Given the description of an element on the screen output the (x, y) to click on. 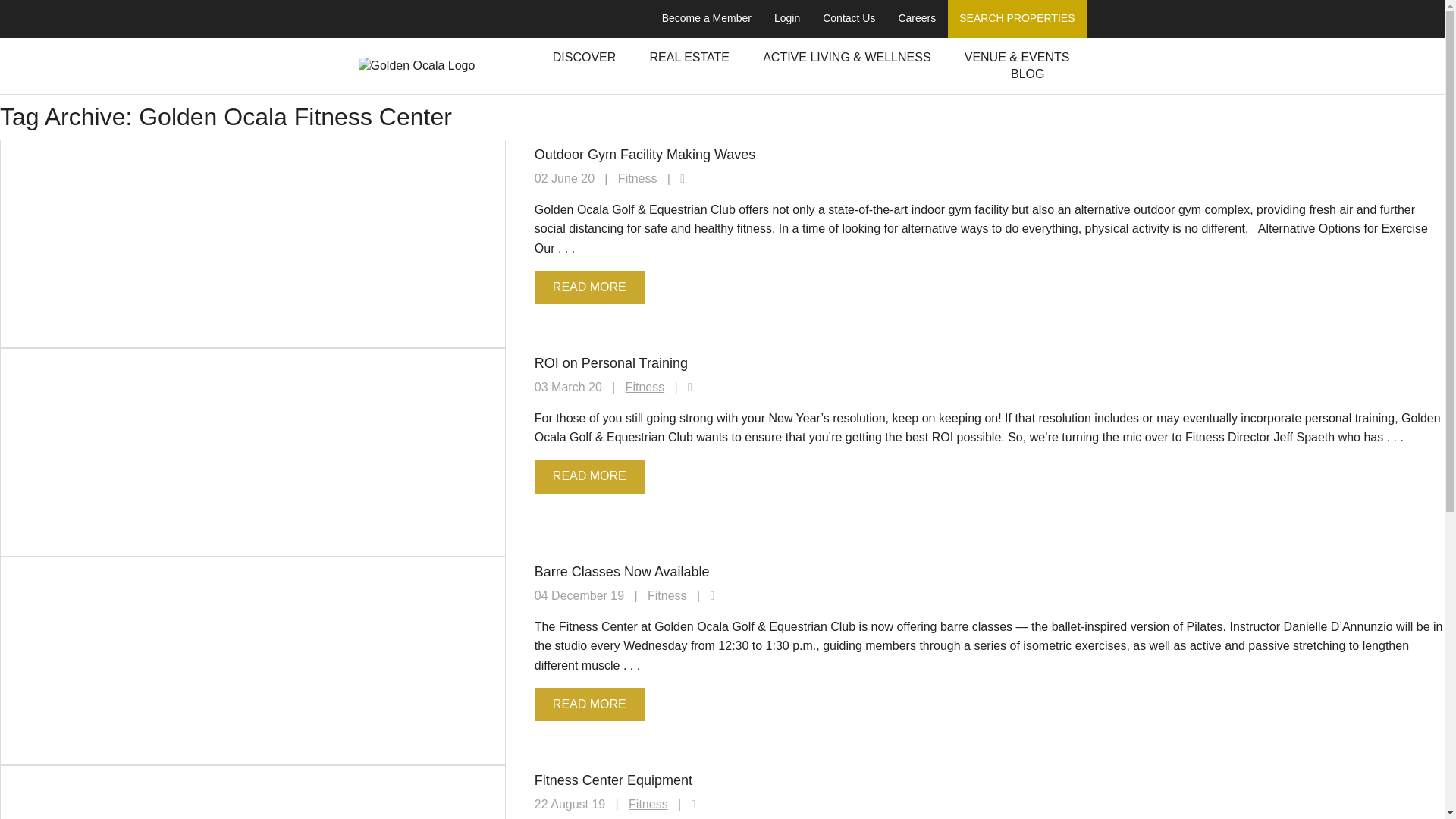
Fitness (648, 803)
Login (786, 18)
Contact Us (848, 18)
Careers (916, 18)
DISCOVER (584, 57)
REAL ESTATE (689, 57)
Fitness (645, 386)
Become a Member (706, 18)
SEARCH PROPERTIES (1016, 18)
Fitness (667, 594)
